Given the description of an element on the screen output the (x, y) to click on. 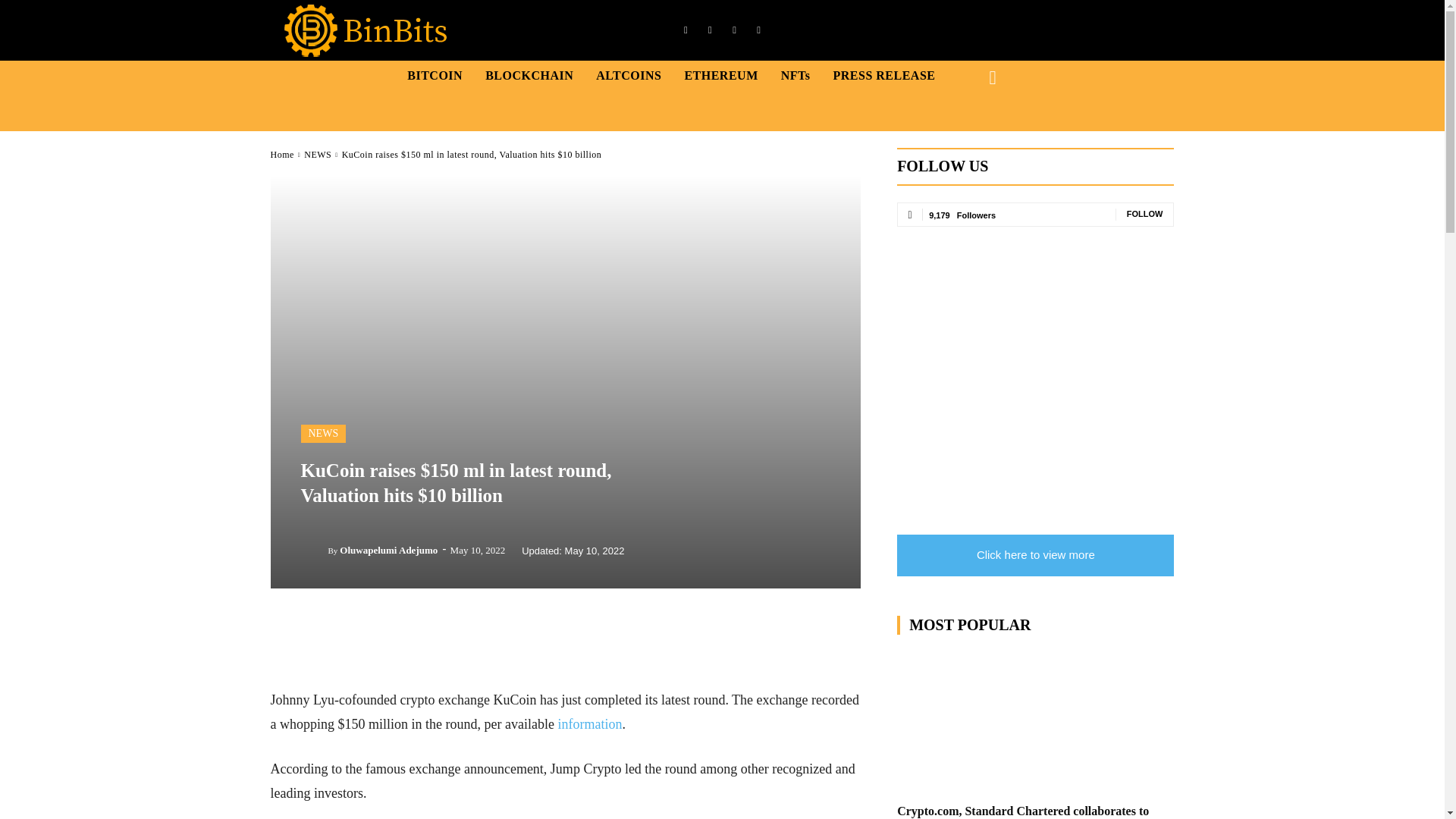
View all posts in NEWS (317, 154)
NEWS (322, 434)
ETHEREUM (720, 75)
Instagram (709, 30)
Oluwapelumi Adejumo (388, 549)
Click here to view more (1034, 555)
NFTs (795, 75)
BITCOIN (434, 75)
information (589, 724)
Home (281, 154)
